Given the description of an element on the screen output the (x, y) to click on. 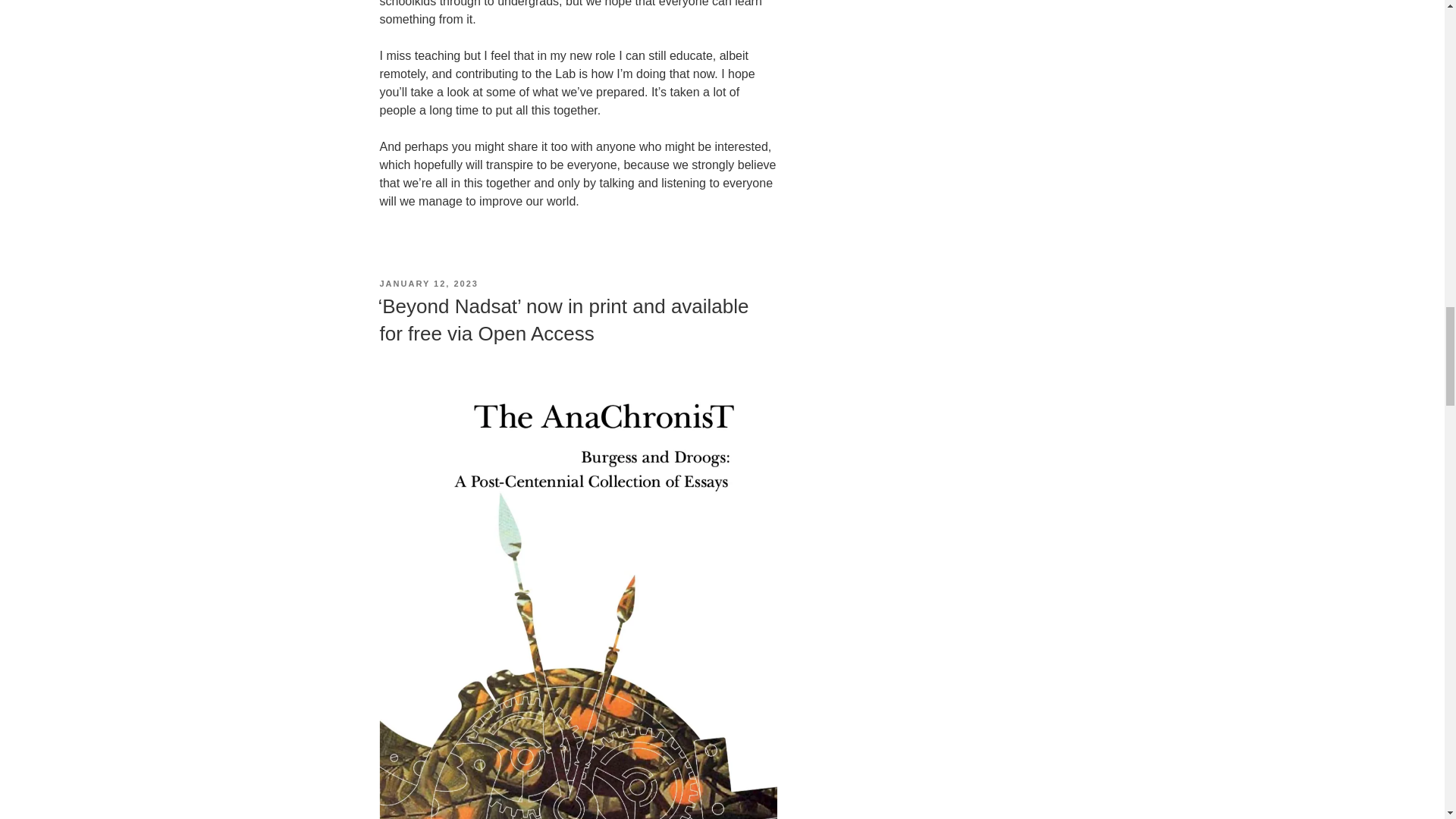
JANUARY 12, 2023 (427, 283)
